Given the description of an element on the screen output the (x, y) to click on. 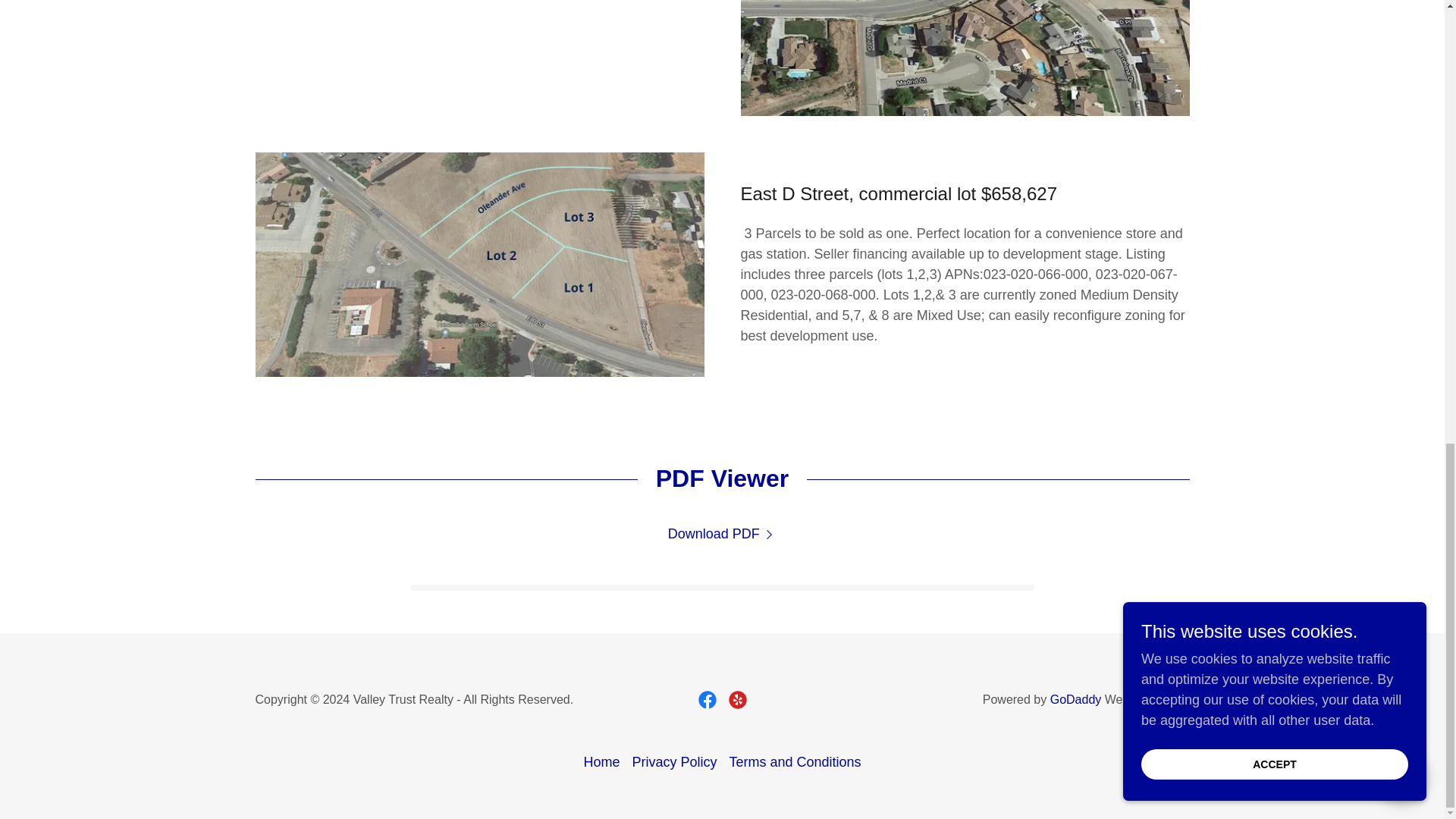
GoDaddy (1075, 698)
Home (601, 762)
Download PDF (722, 534)
